Given the description of an element on the screen output the (x, y) to click on. 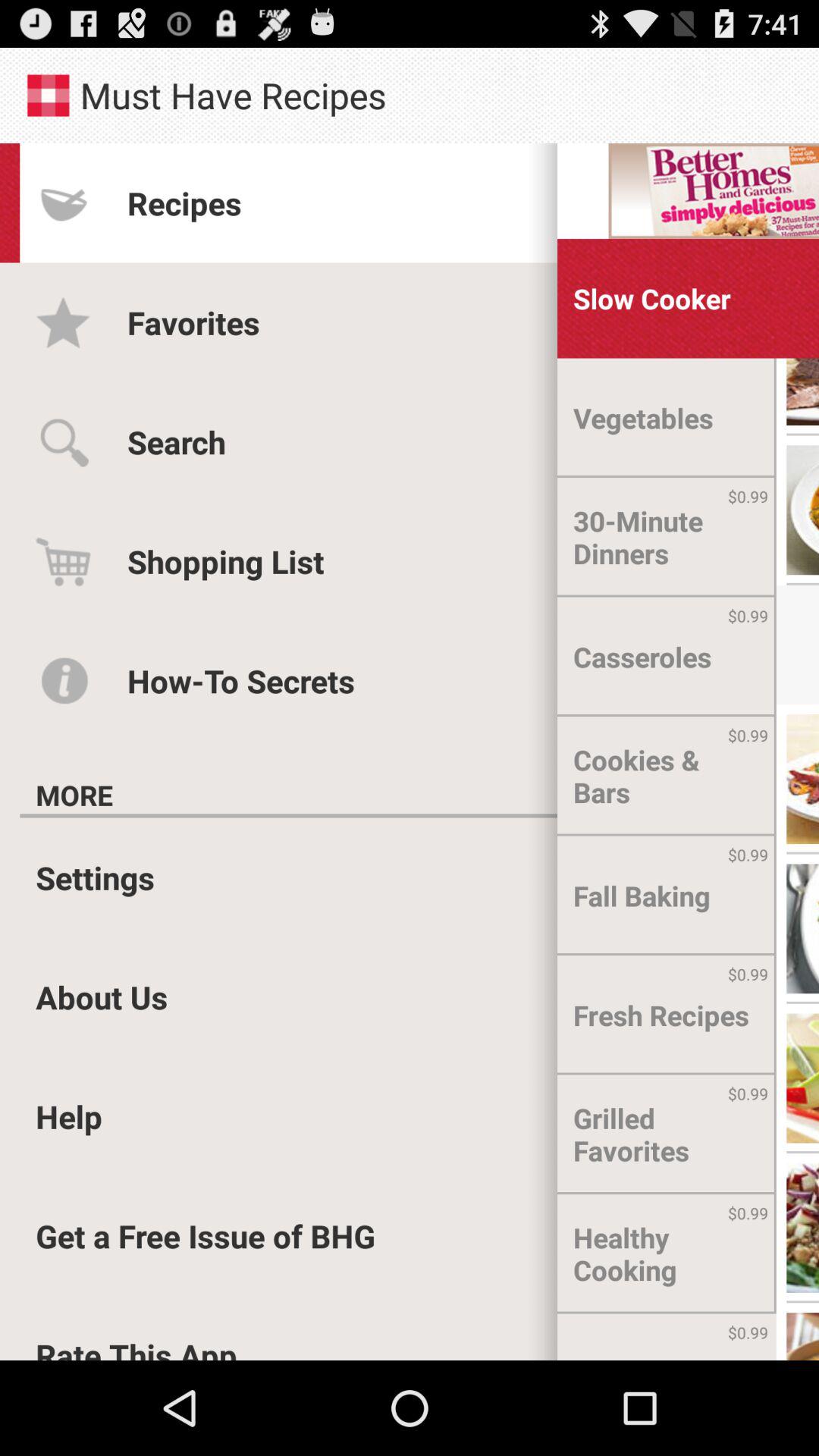
click the app below help item (205, 1235)
